Given the description of an element on the screen output the (x, y) to click on. 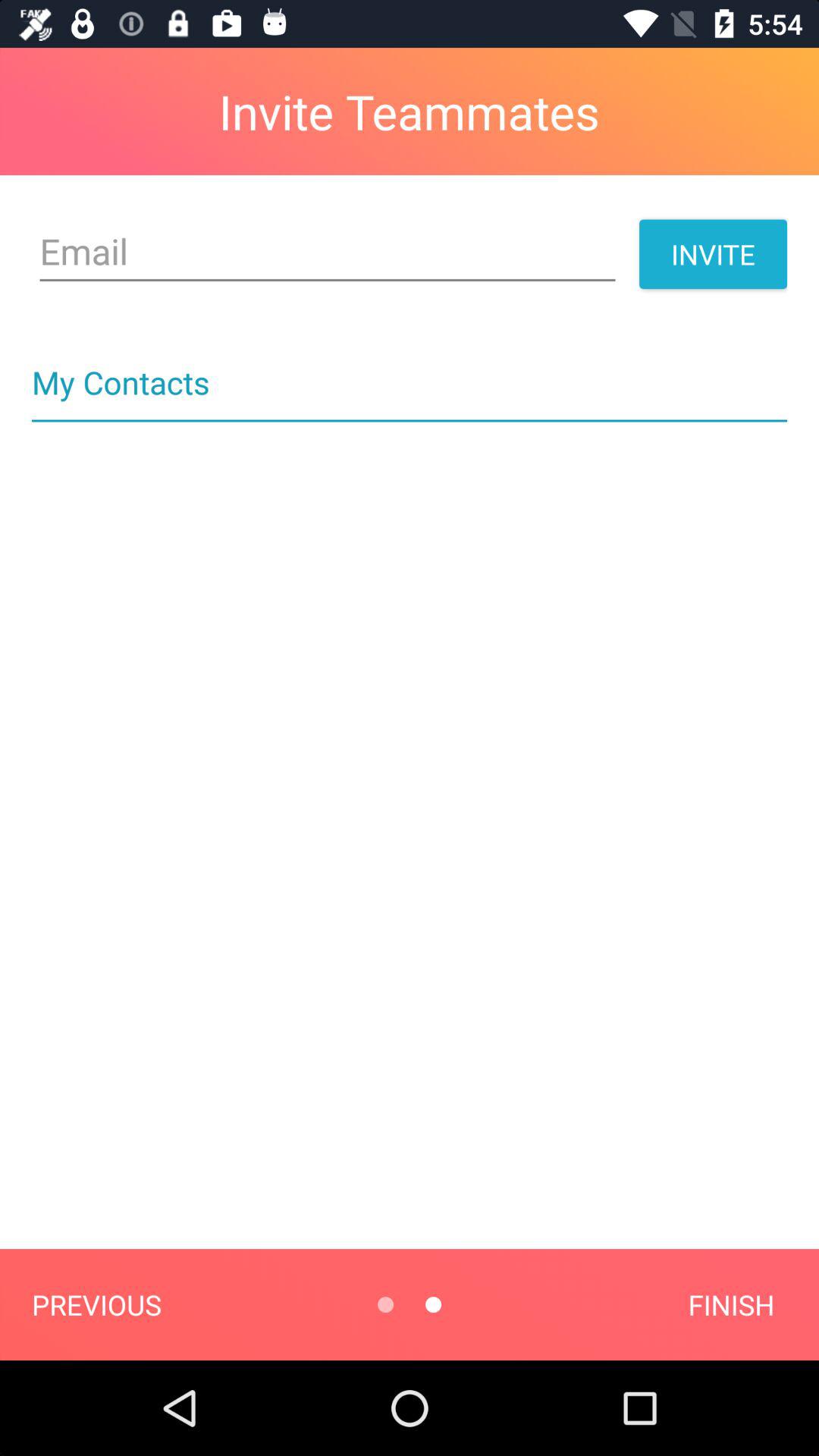
press item above the my contacts (327, 251)
